Given the description of an element on the screen output the (x, y) to click on. 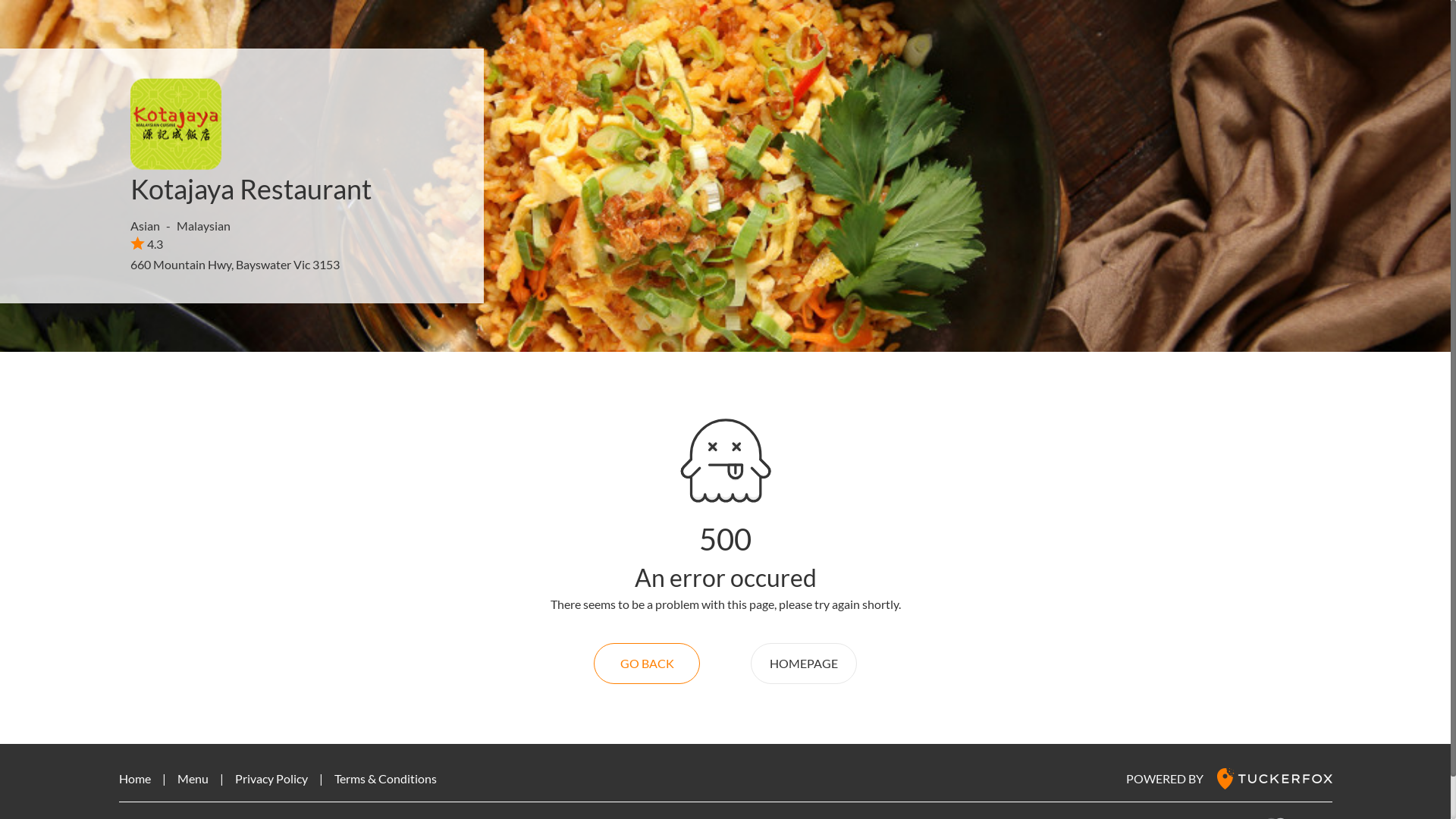
Privacy Policy Element type: text (271, 778)
GO BACK Element type: text (646, 663)
Kotajaya Restaurant Element type: text (250, 188)
Terms & Conditions Element type: text (384, 778)
Home Element type: text (134, 778)
4.3 Element type: text (146, 243)
Menu Element type: text (192, 778)
HOMEPAGE Element type: text (803, 663)
